Given the description of an element on the screen output the (x, y) to click on. 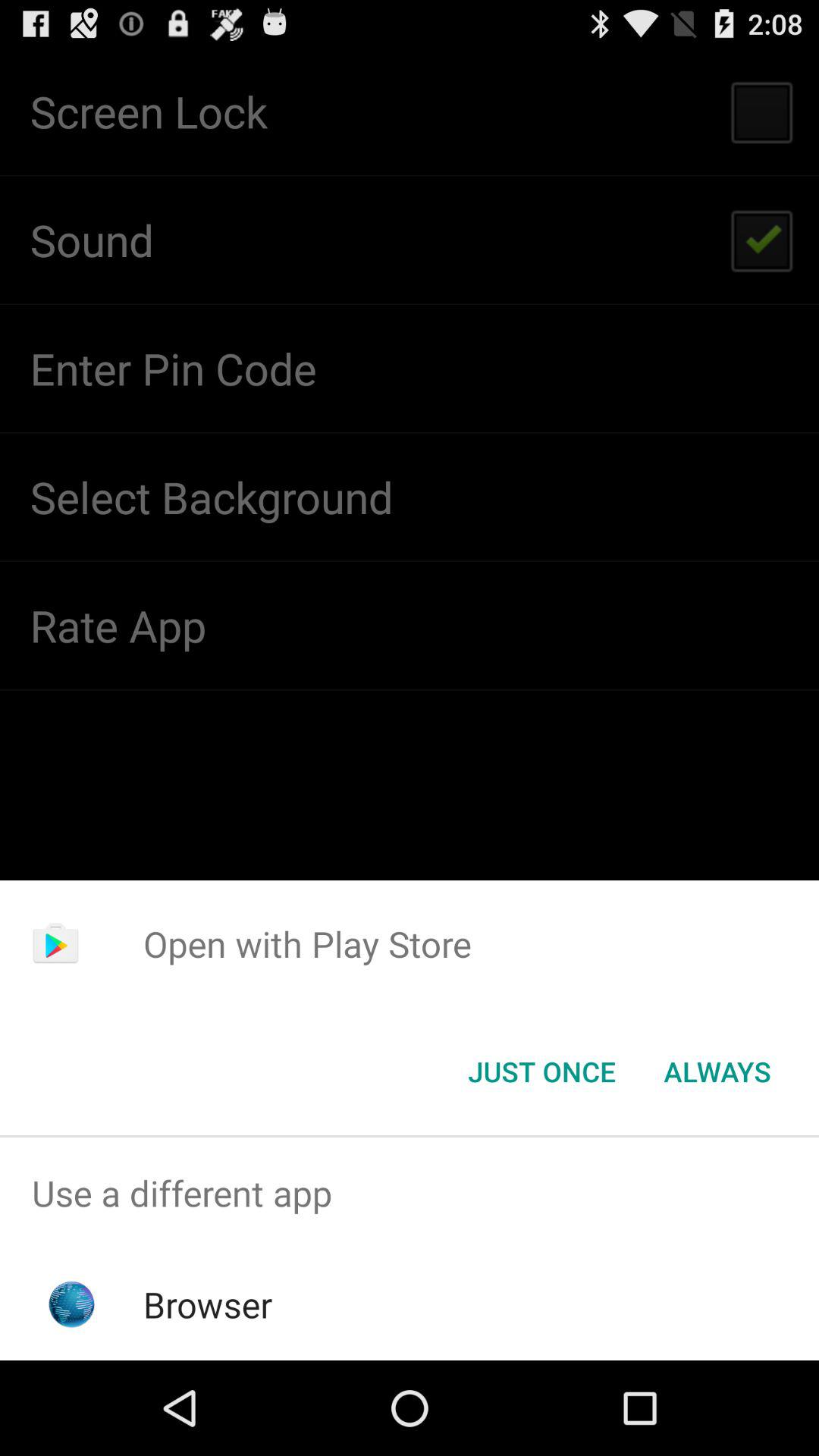
turn off icon below use a different app (207, 1304)
